Given the description of an element on the screen output the (x, y) to click on. 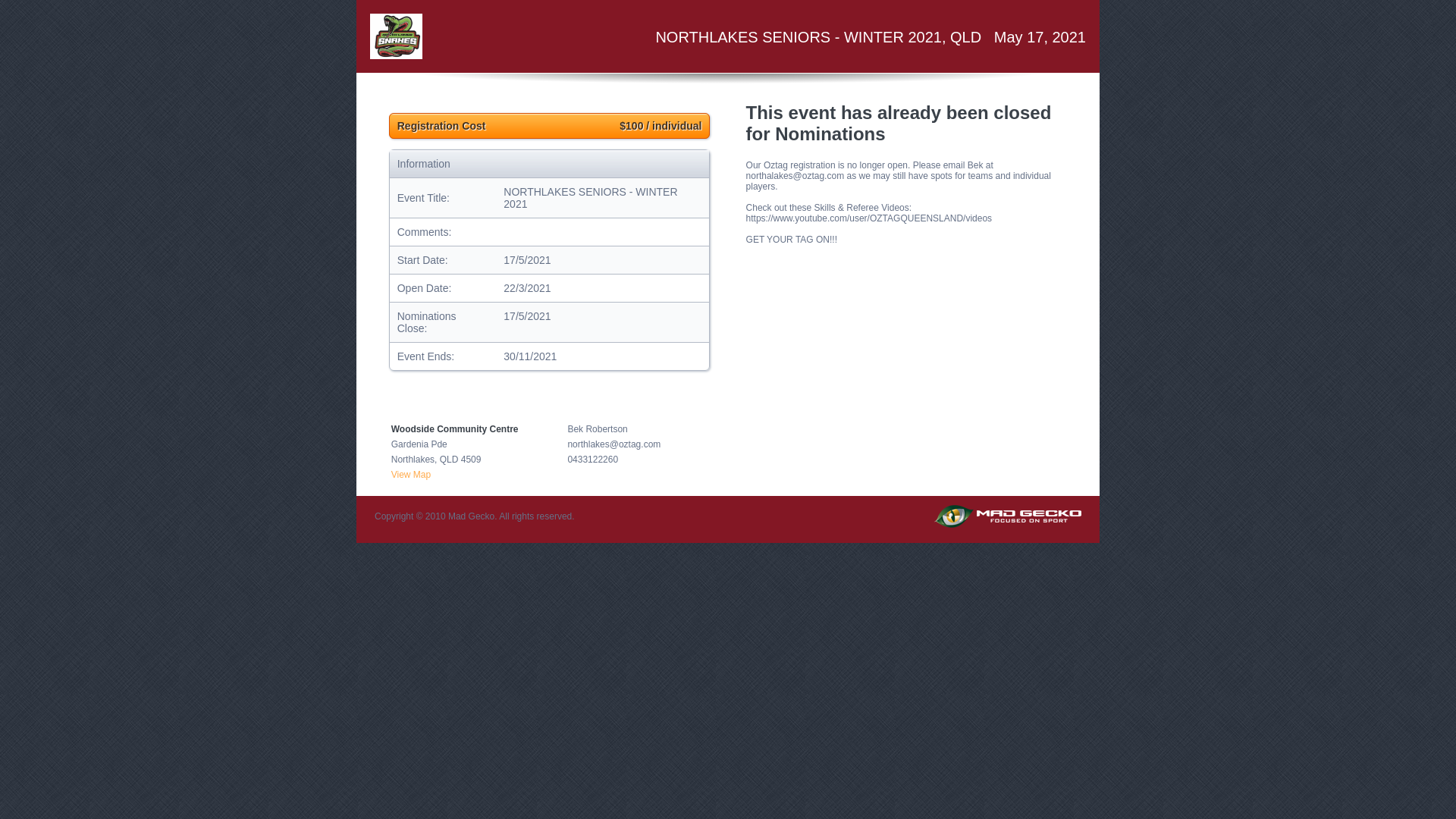
View Map Element type: text (410, 474)
